Given the description of an element on the screen output the (x, y) to click on. 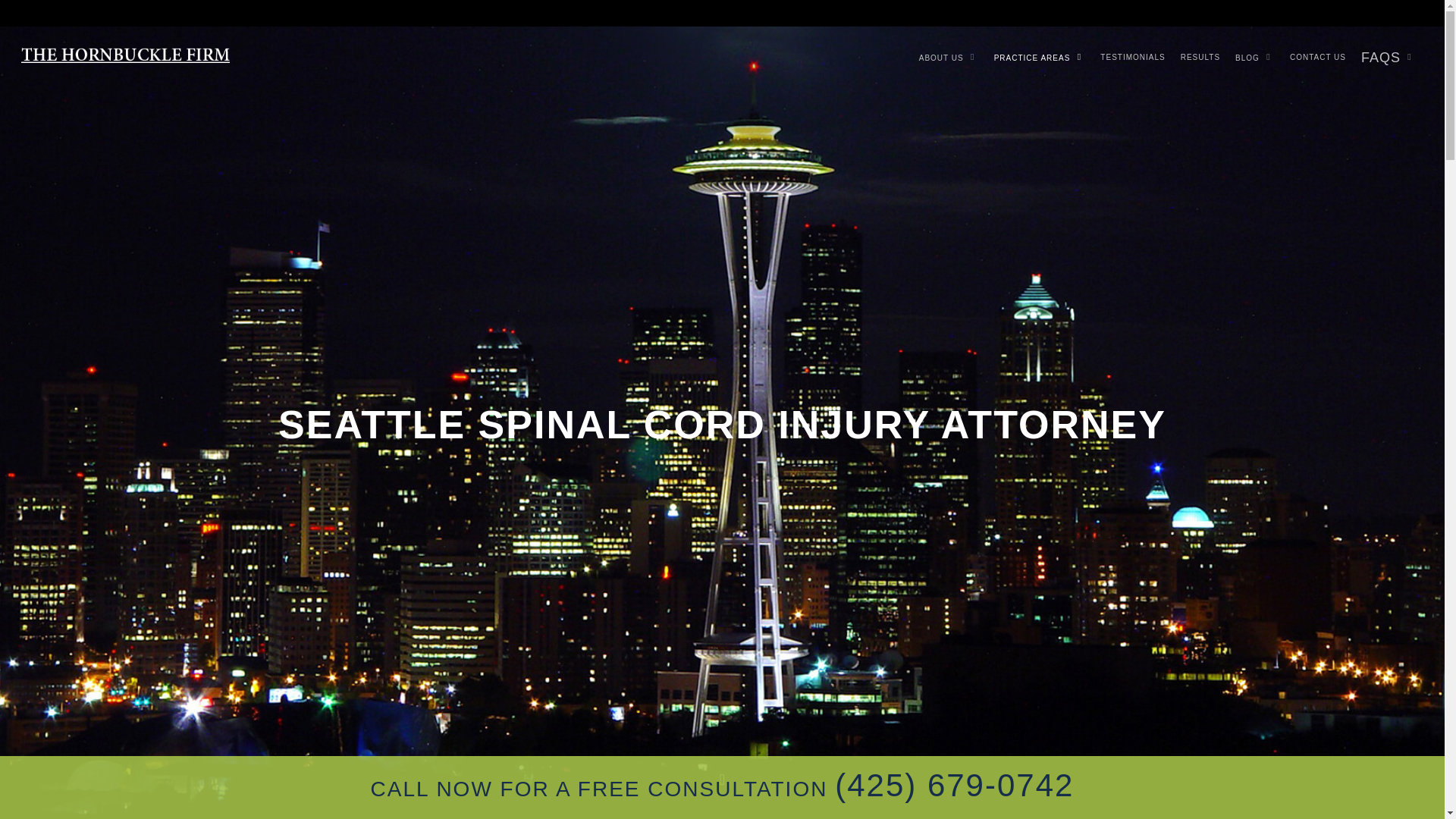
ABOUT US (949, 57)
PRACTICE AREAS (1040, 57)
